Given the description of an element on the screen output the (x, y) to click on. 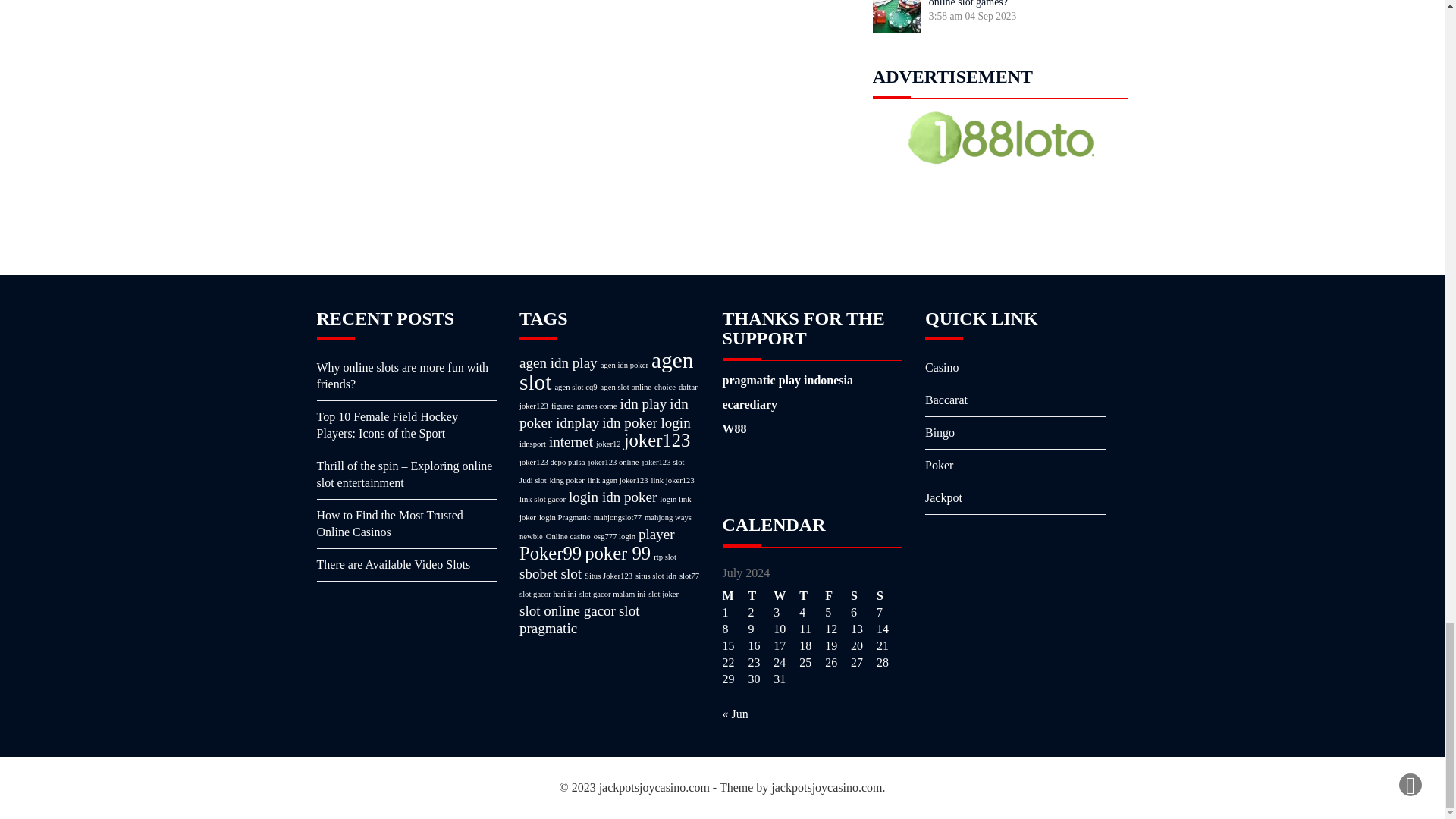
Wednesday (786, 596)
Thursday (812, 596)
Saturday (863, 596)
Monday (735, 596)
Tuesday (760, 596)
Friday (837, 596)
Sunday (889, 596)
